Given the description of an element on the screen output the (x, y) to click on. 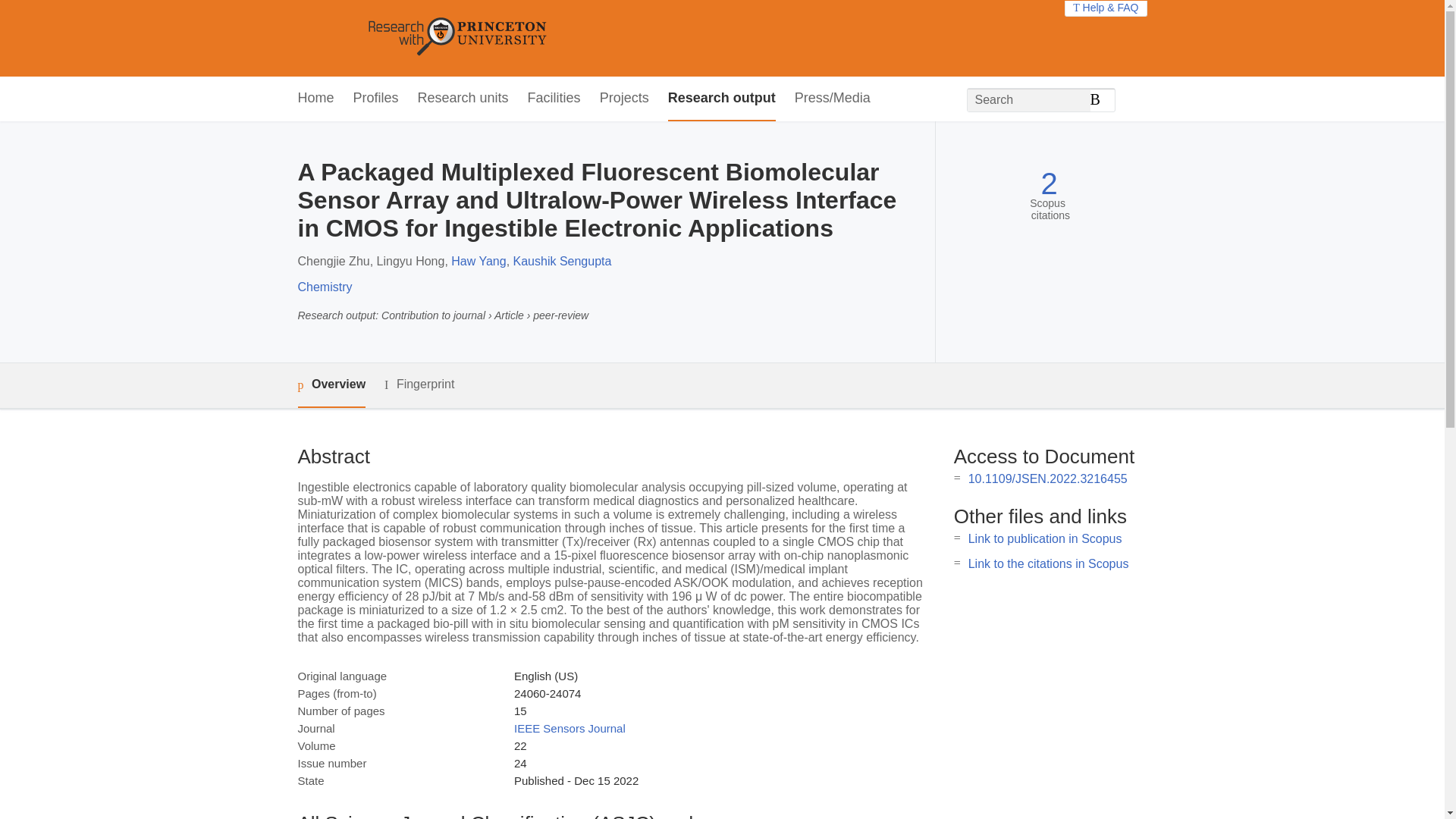
Haw Yang (478, 260)
Chemistry (324, 286)
Facilities (553, 98)
Link to the citations in Scopus (1048, 563)
Overview (331, 385)
Profiles (375, 98)
Projects (624, 98)
Princeton University Home (567, 38)
Fingerprint (419, 384)
